Given the description of an element on the screen output the (x, y) to click on. 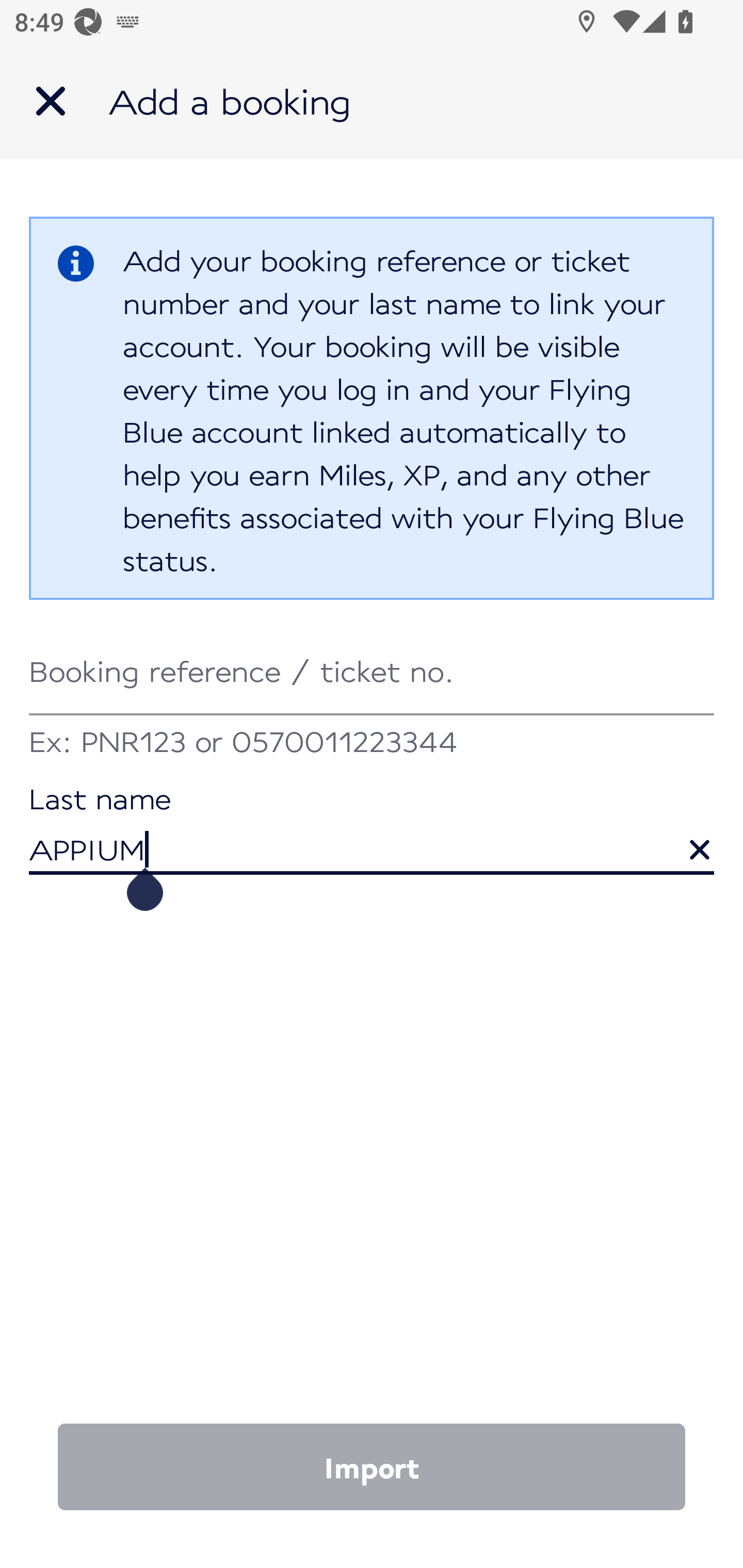
Booking reference / ticket no. (371, 671)
APPIUM Clear text (371, 831)
Clear text (685, 839)
Import (371, 1466)
